Given the description of an element on the screen output the (x, y) to click on. 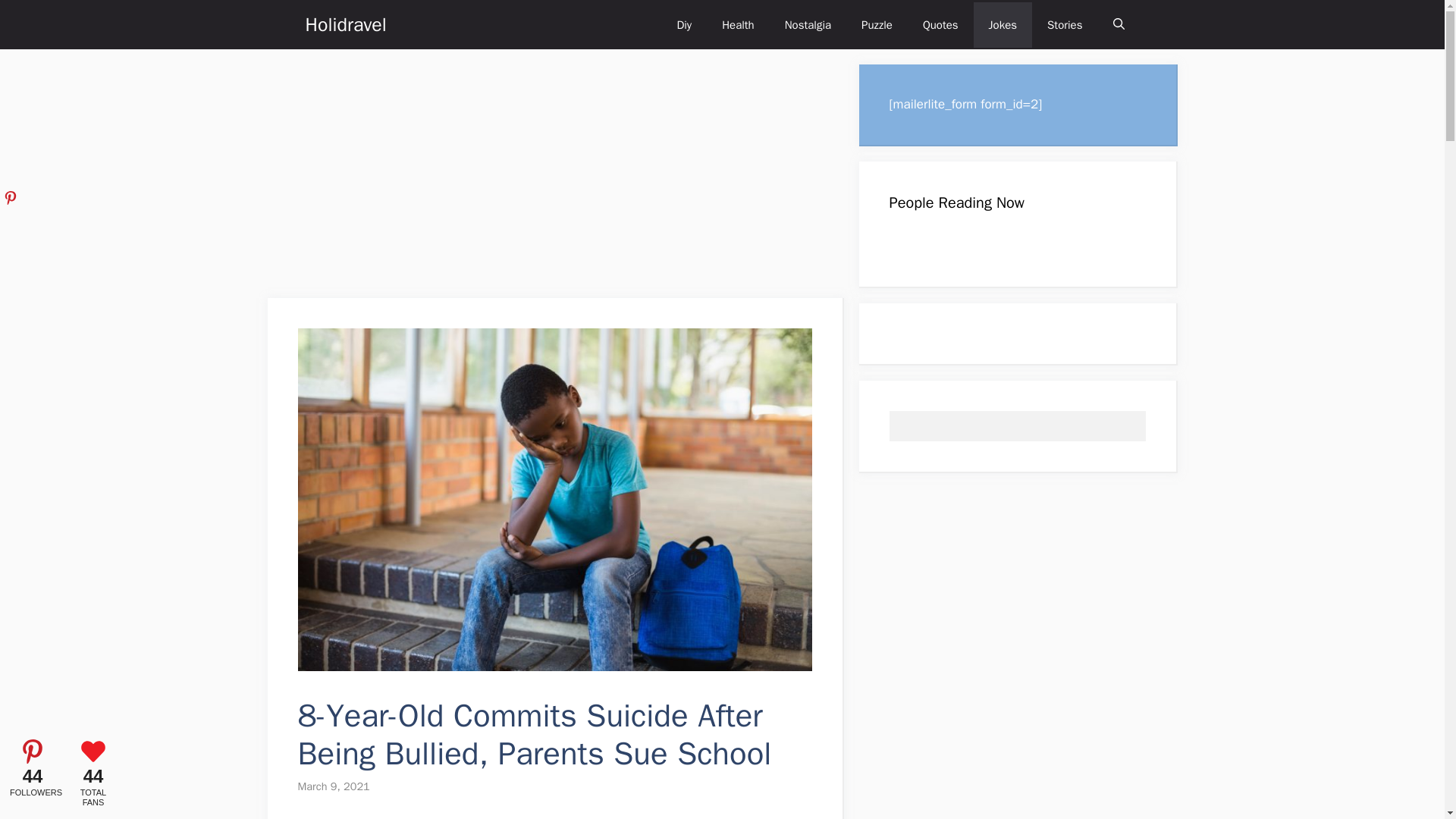
Puzzle (876, 23)
Diy (683, 23)
Nostalgia (807, 23)
Holidravel (344, 24)
Quotes (940, 23)
Jokes (1003, 23)
Stories (1064, 23)
Health (738, 23)
